Given the description of an element on the screen output the (x, y) to click on. 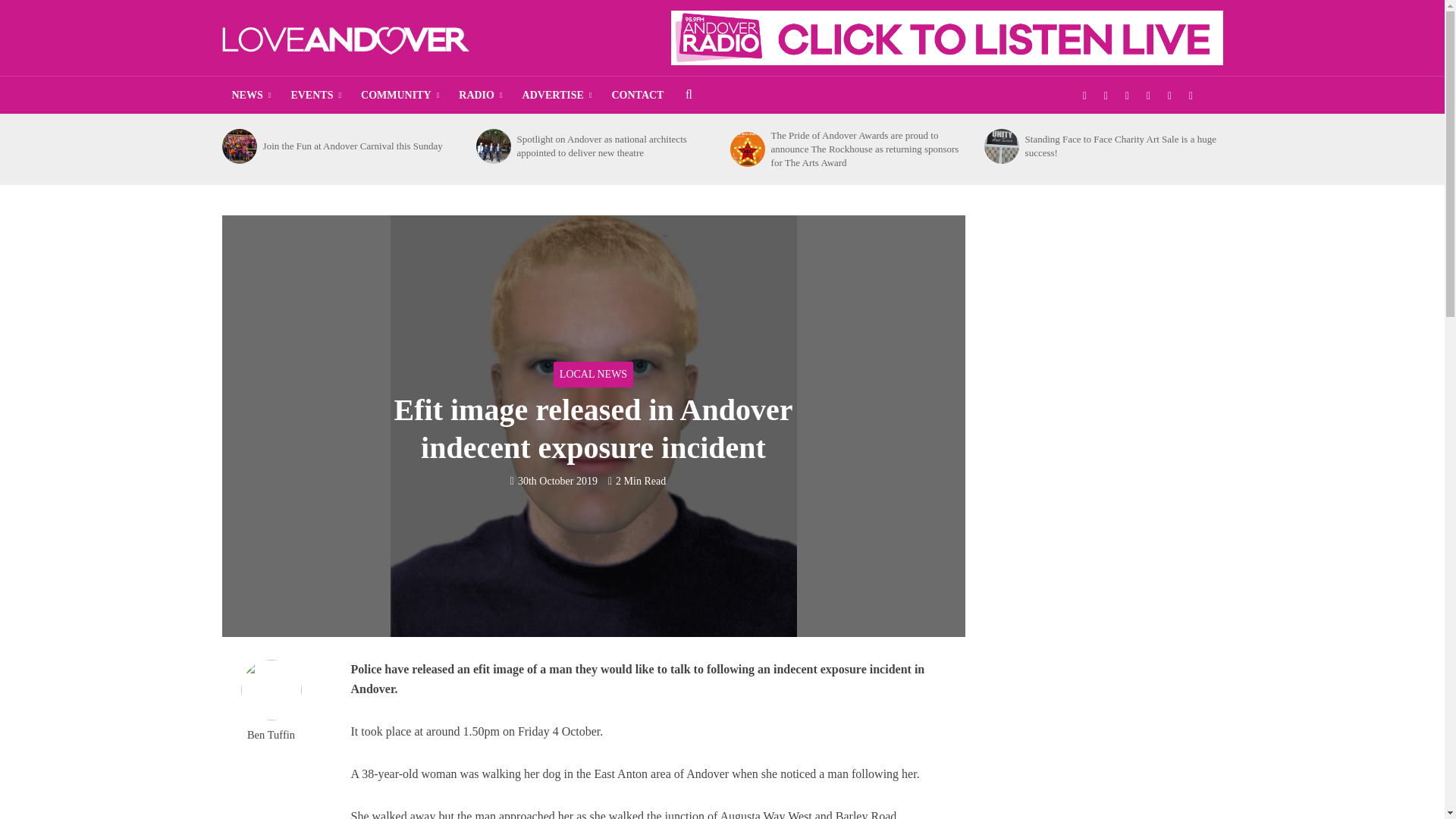
Join the Fun at Andover Carnival this Sunday (237, 145)
EVENTS (315, 95)
ADVERTISE (557, 95)
NEWS (251, 95)
CONTACT (636, 95)
COMMUNITY (399, 95)
RADIO (480, 95)
Standing Face to Face Charity Art Sale is a huge success! (1000, 145)
